Given the description of an element on the screen output the (x, y) to click on. 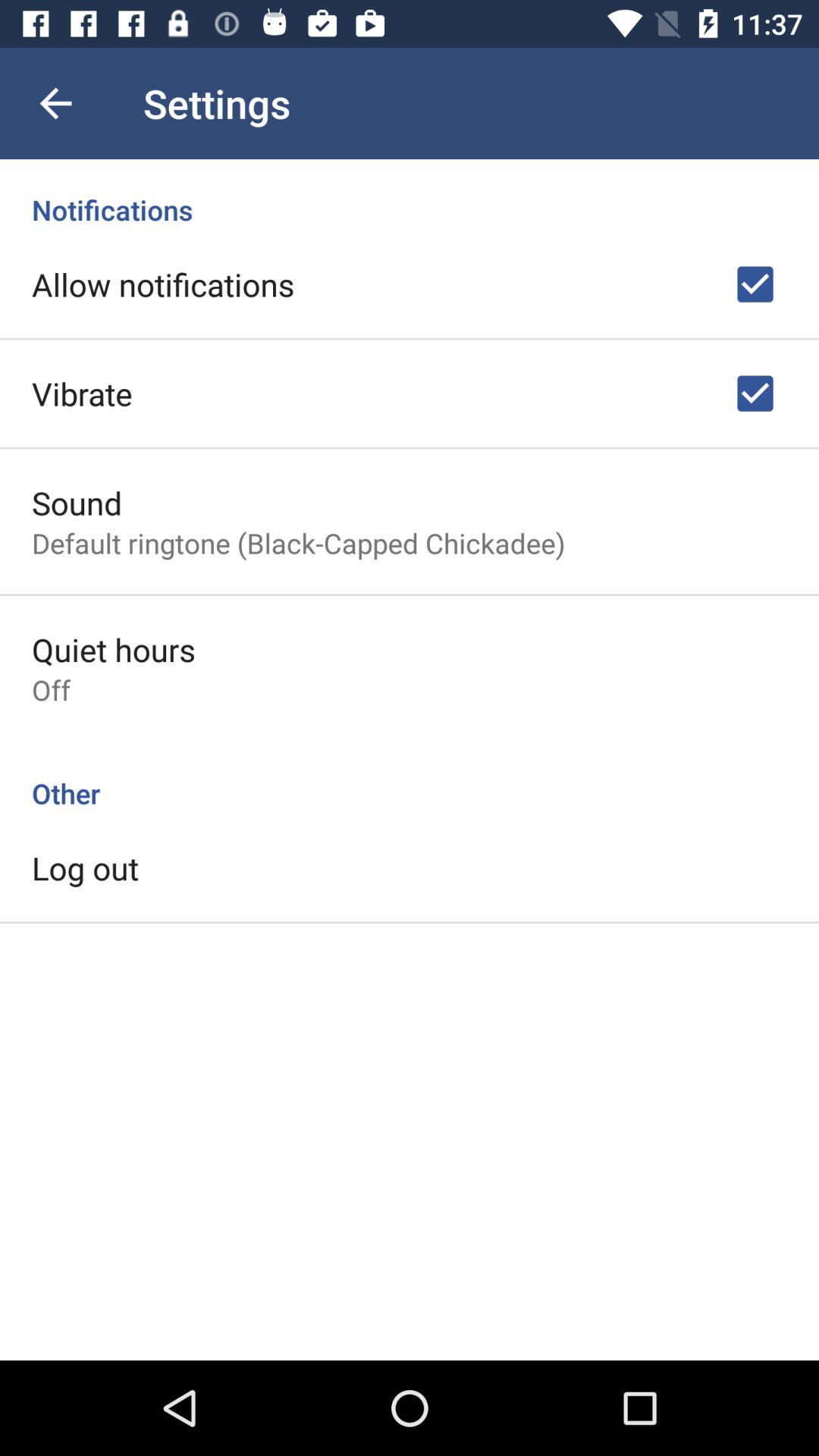
turn off the item below the allow notifications (81, 393)
